Given the description of an element on the screen output the (x, y) to click on. 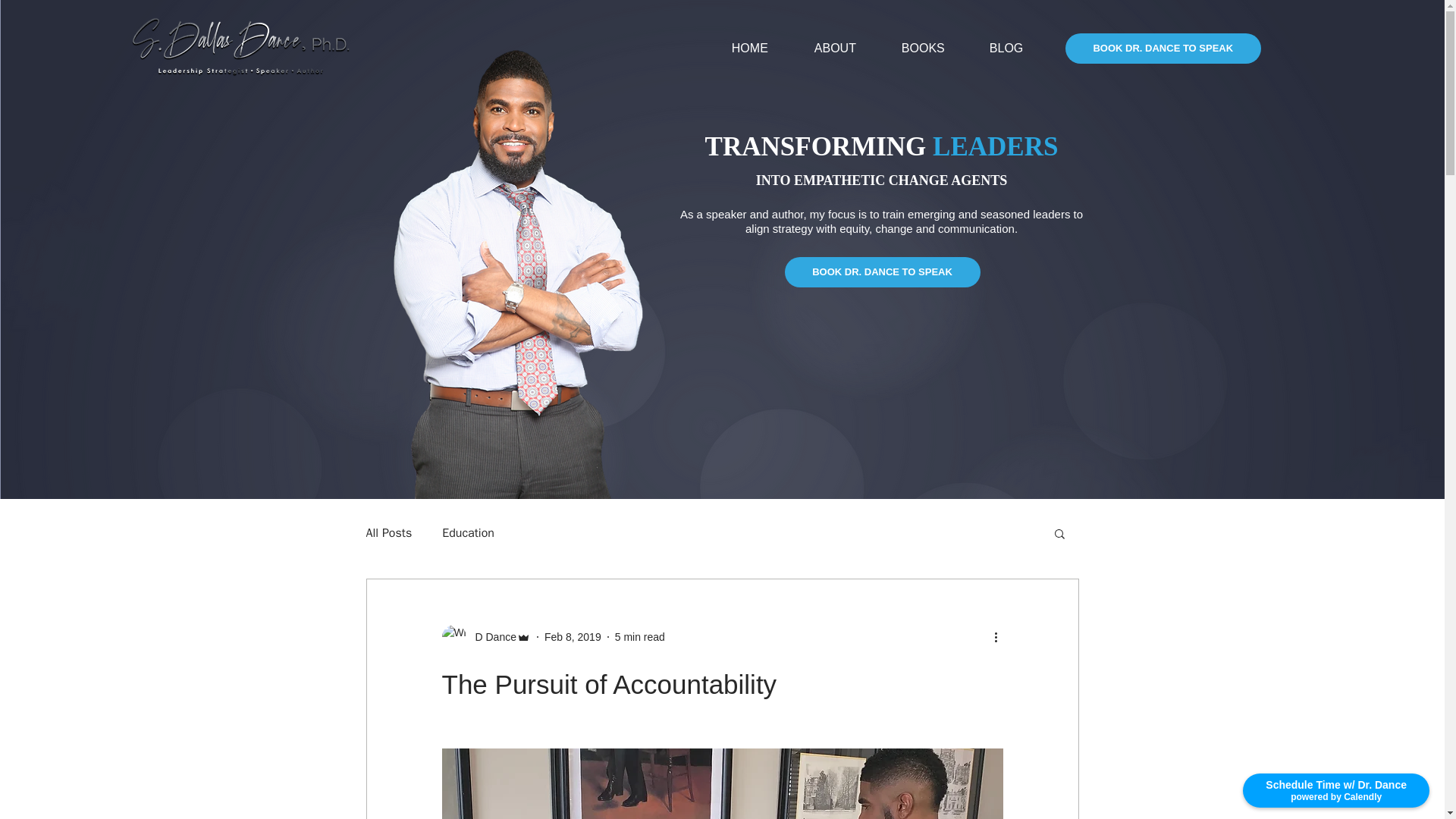
5 min read (639, 636)
D Dance (490, 637)
Feb 8, 2019 (572, 636)
Education (468, 533)
BOOK DR. DANCE TO SPEAK (1162, 48)
ABOUT (846, 48)
BLOG (1017, 48)
HOME (761, 48)
All Posts (388, 533)
D Dance (485, 636)
BOOKS (933, 48)
BOOK DR. DANCE TO SPEAK (881, 272)
